Given the description of an element on the screen output the (x, y) to click on. 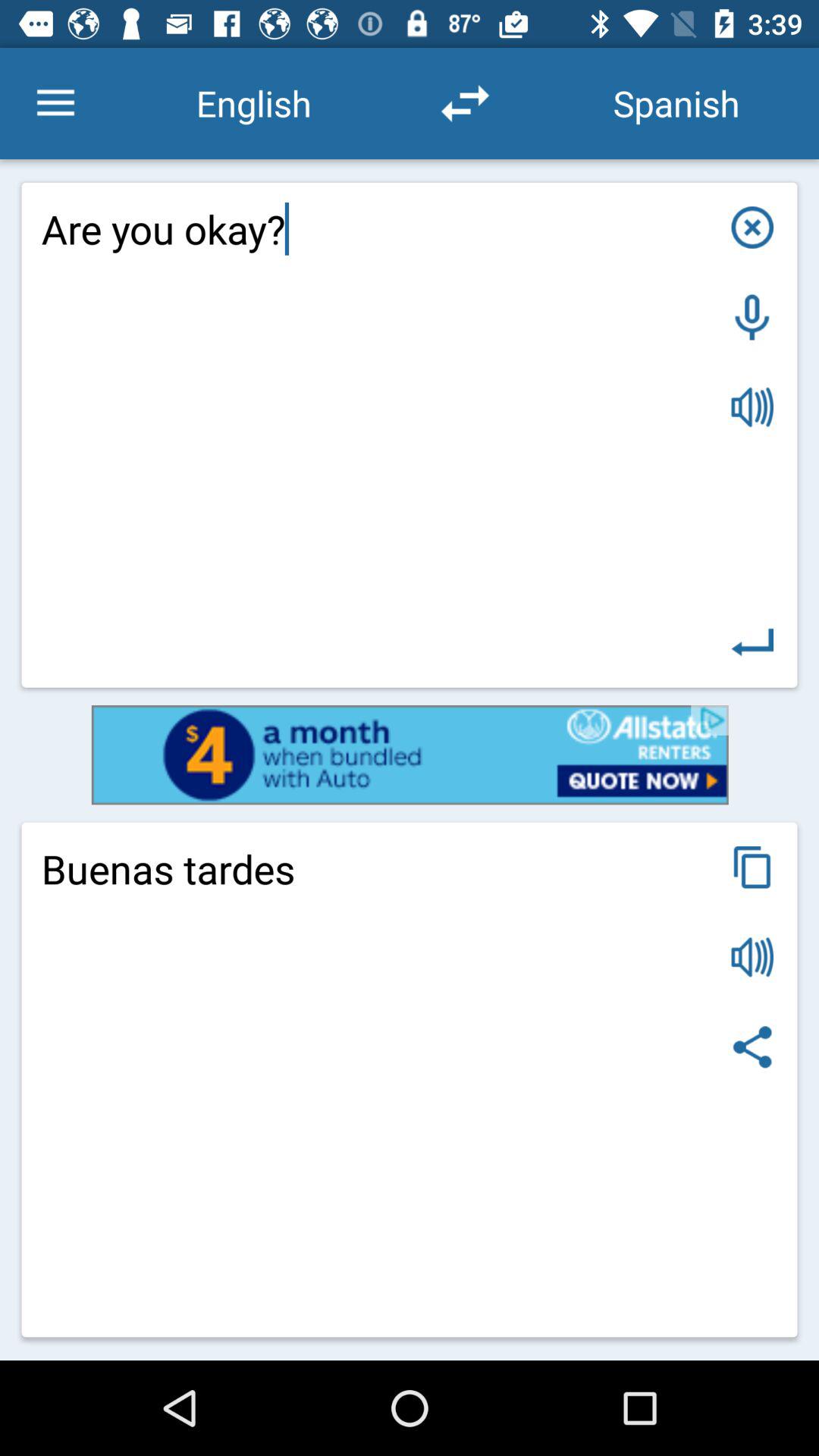
close dialogue (752, 227)
